Given the description of an element on the screen output the (x, y) to click on. 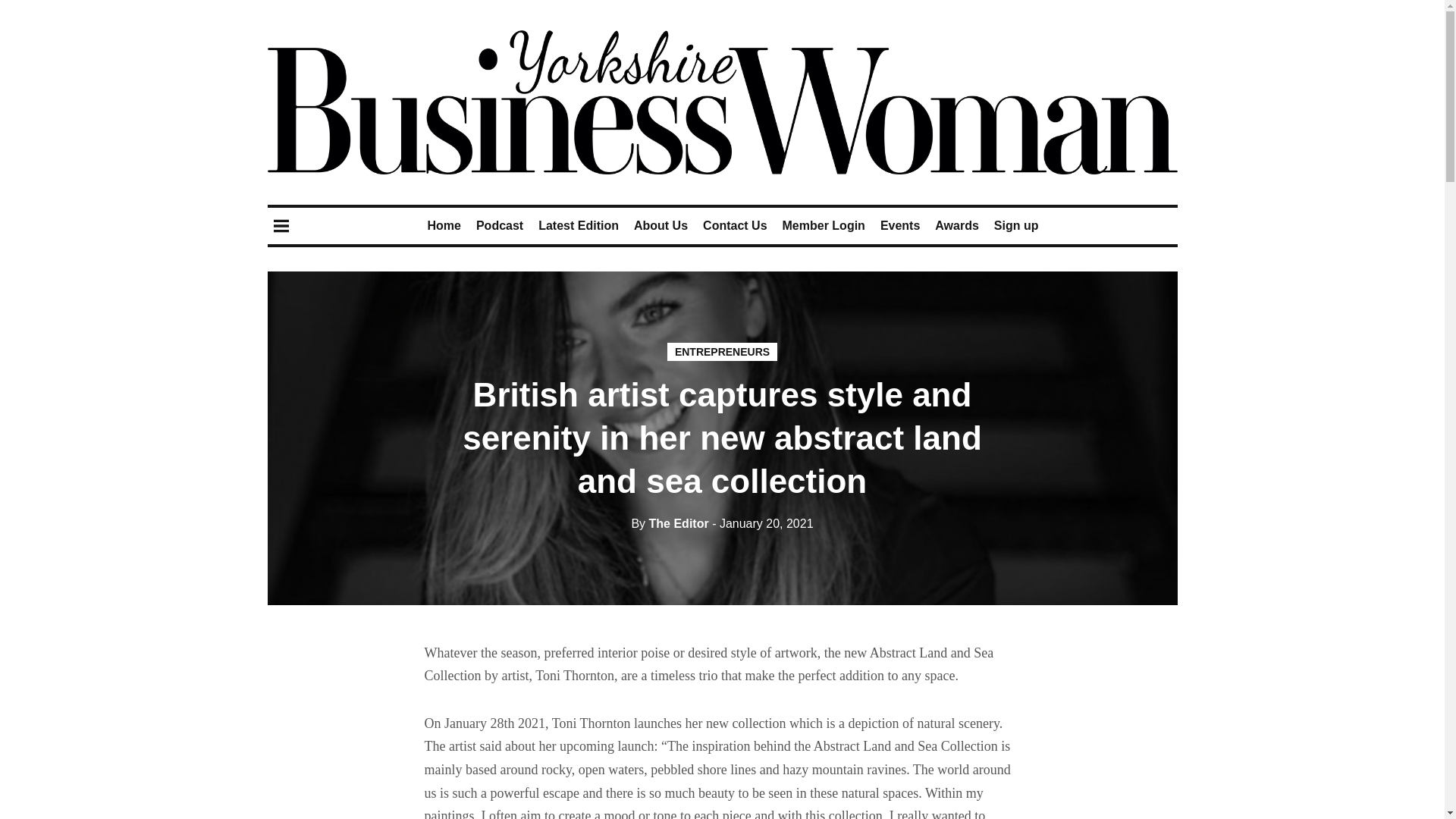
By The Editor (668, 522)
Home (443, 225)
Contact Us (735, 225)
About Us (660, 225)
Podcast (499, 225)
Awards (956, 225)
Events (900, 225)
Latest Edition (578, 225)
20 January, 2021 (761, 522)
ENTREPRENEURS (721, 352)
